Given the description of an element on the screen output the (x, y) to click on. 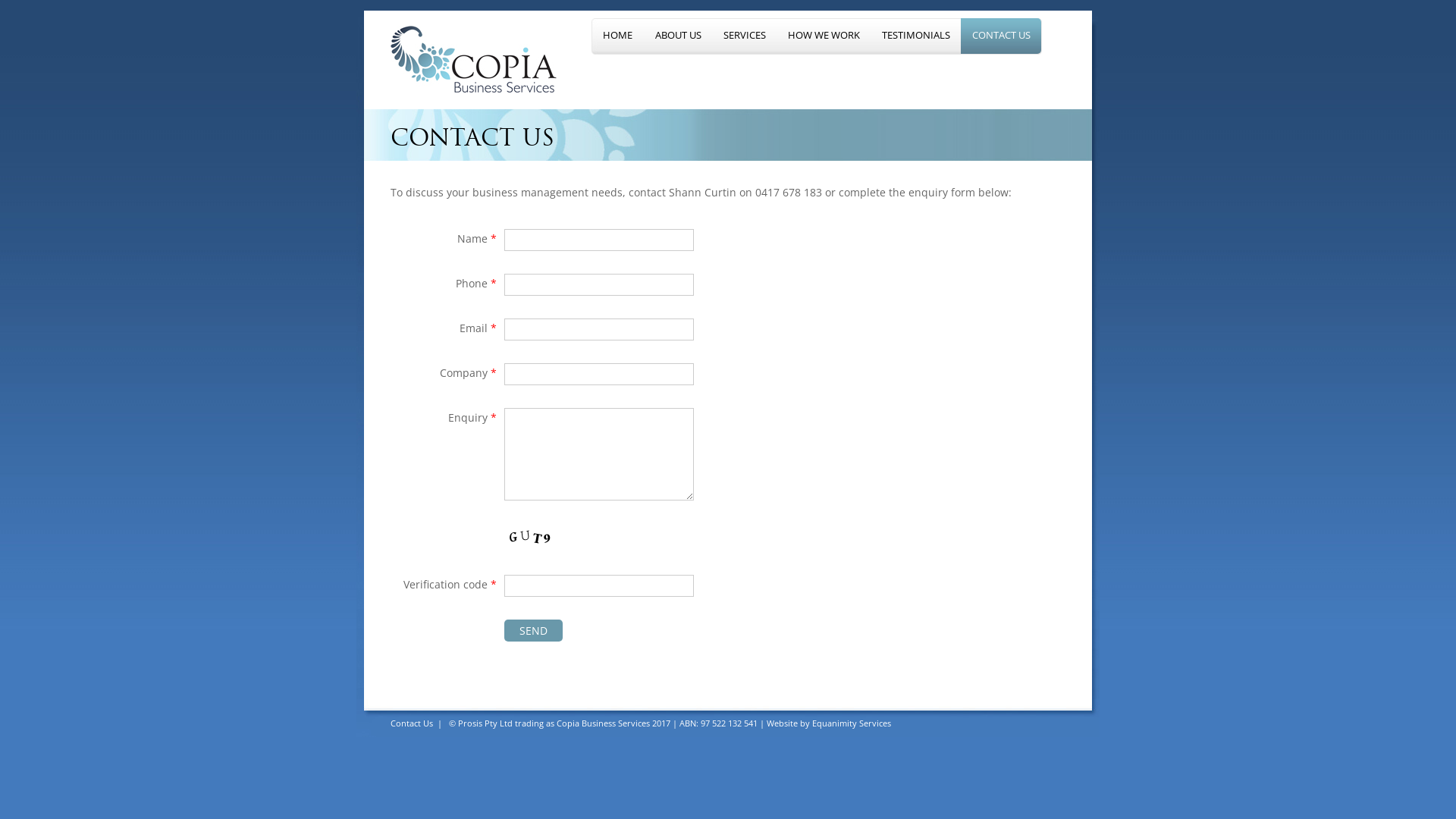
Send Element type: text (533, 630)
TESTIMONIALS Element type: text (915, 35)
CONTACT US Element type: text (1000, 35)
Contact Us Element type: text (411, 722)
HOW WE WORK Element type: text (823, 35)
ABOUT US Element type: text (677, 35)
Copia Business Services Element type: text (473, 58)
HOME Element type: text (617, 35)
Equanimity Services Element type: text (851, 722)
SERVICES Element type: text (744, 35)
